Given the description of an element on the screen output the (x, y) to click on. 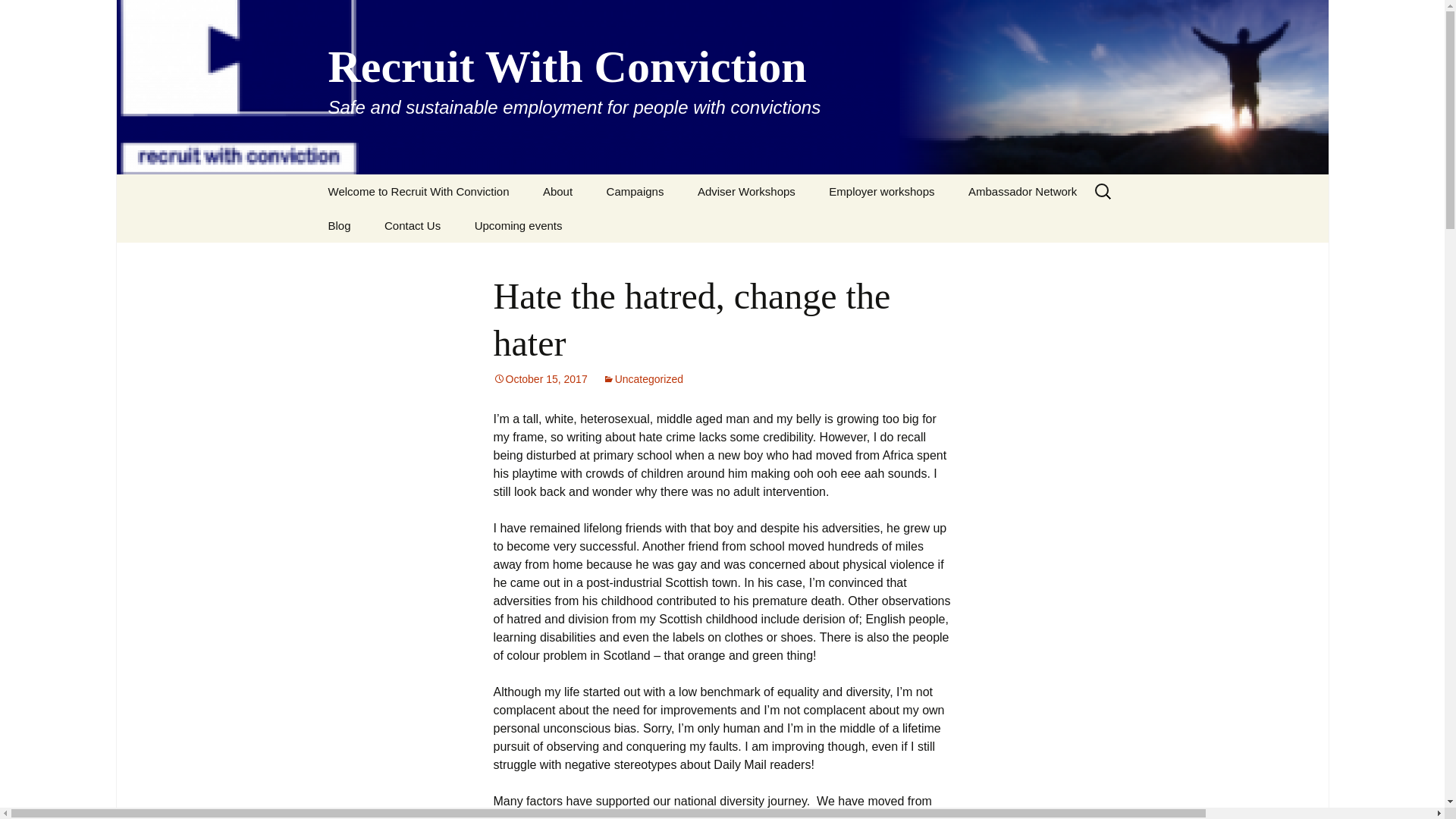
October 15, 2017 (539, 378)
Adviser Workshops (746, 191)
Permalink to Hate the hatred, change the hater (539, 378)
Uncategorized (642, 378)
Our People (603, 225)
Welcome to Recruit With Conviction (418, 191)
Ambassador Network (1022, 191)
Recruit With Conviction Conference (666, 230)
Campaigns (635, 191)
Search (18, 15)
Contact Us (412, 225)
About (557, 191)
Blog (339, 225)
